Given the description of an element on the screen output the (x, y) to click on. 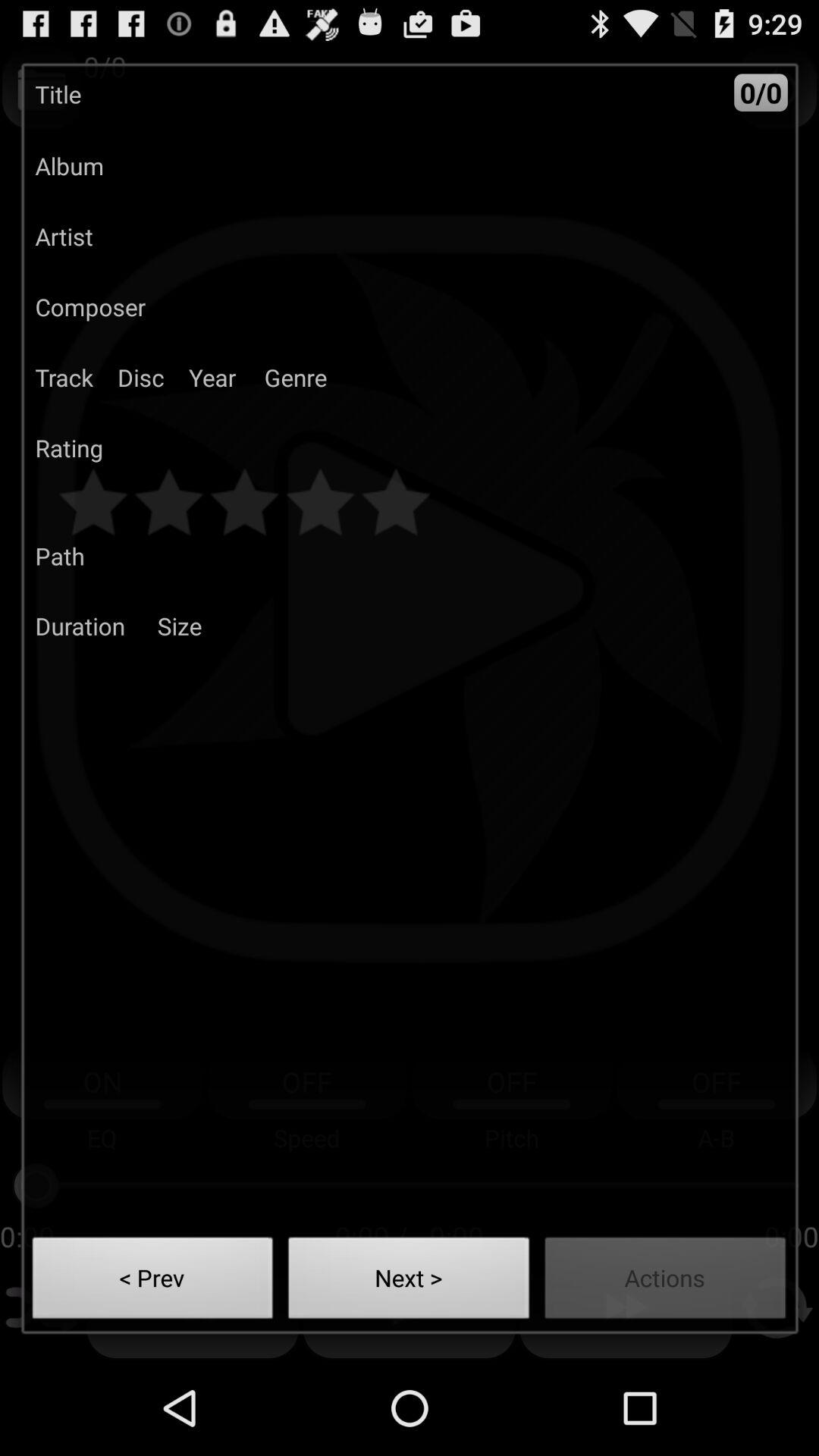
swipe until actions button (665, 1282)
